Given the description of an element on the screen output the (x, y) to click on. 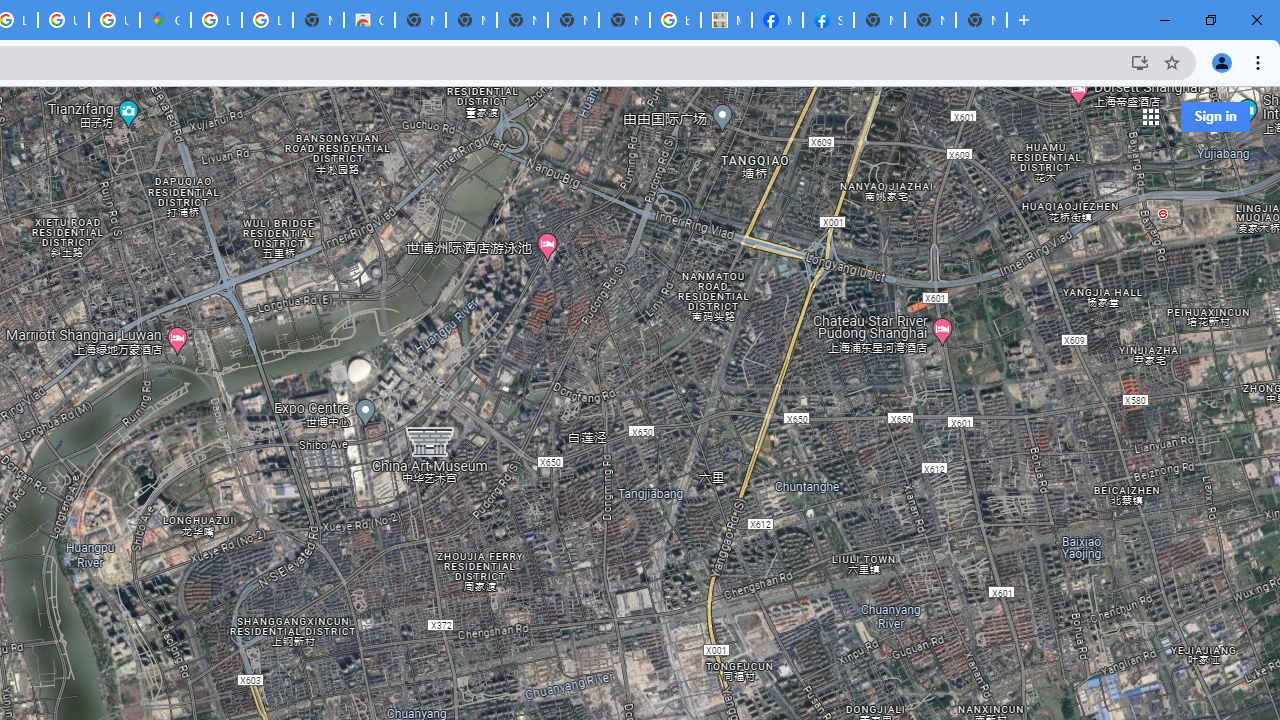
Google Maps (164, 20)
